Given the description of an element on the screen output the (x, y) to click on. 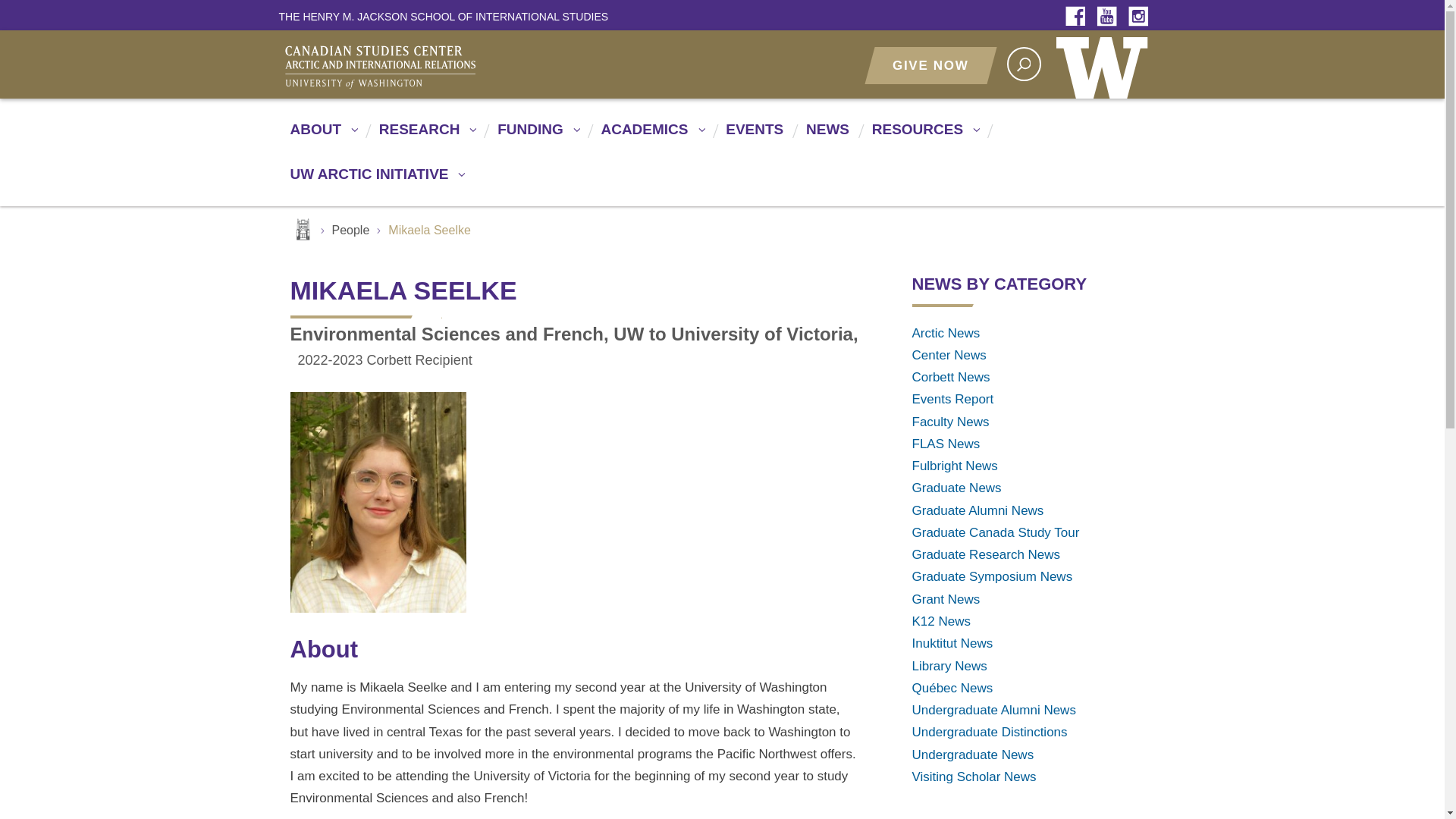
RESOURCES (922, 135)
YOUTUBE (1110, 17)
ACADEMICS (649, 135)
THE HENRY M. JACKSON SCHOOL OF INTERNATIONAL STUDIES (443, 16)
About (322, 135)
FUNDING (536, 135)
University of Washington Home (1104, 64)
Give Now (930, 65)
RESEARCH (425, 135)
NEWS (825, 135)
ABOUT (322, 135)
Youtube (1110, 17)
FACEBOOK (1079, 17)
EVENTS (752, 135)
Canadian Studies Center (449, 65)
